Given the description of an element on the screen output the (x, y) to click on. 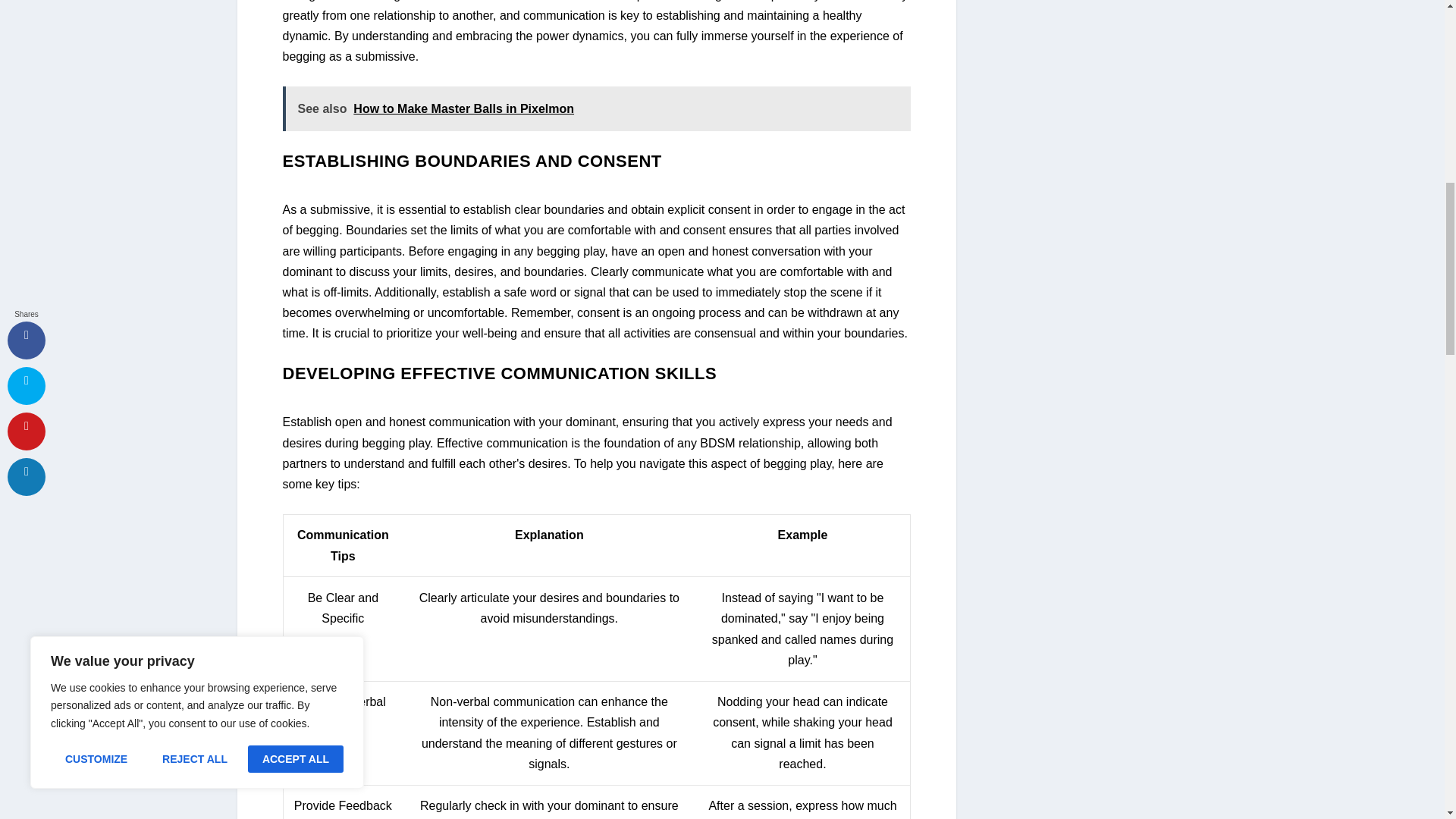
See also  How to Make Master Balls in Pixelmon (596, 108)
